Given the description of an element on the screen output the (x, y) to click on. 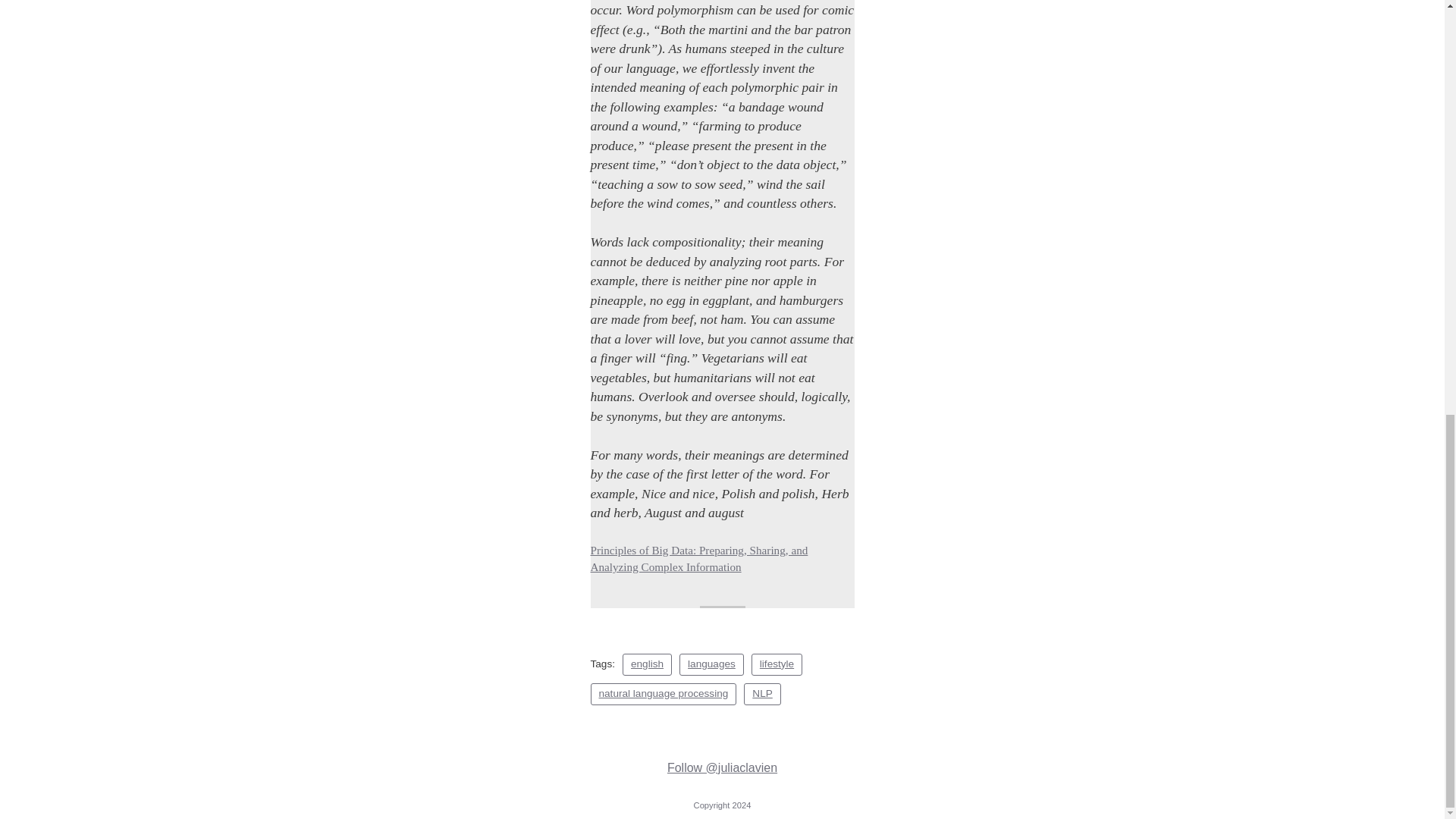
natural language processing (662, 694)
NLP (762, 694)
languages (711, 664)
languages (711, 664)
natural language processing (662, 694)
lifestyle (776, 664)
english (647, 664)
NLP (762, 694)
lifestyle (776, 664)
english (647, 664)
